Given the description of an element on the screen output the (x, y) to click on. 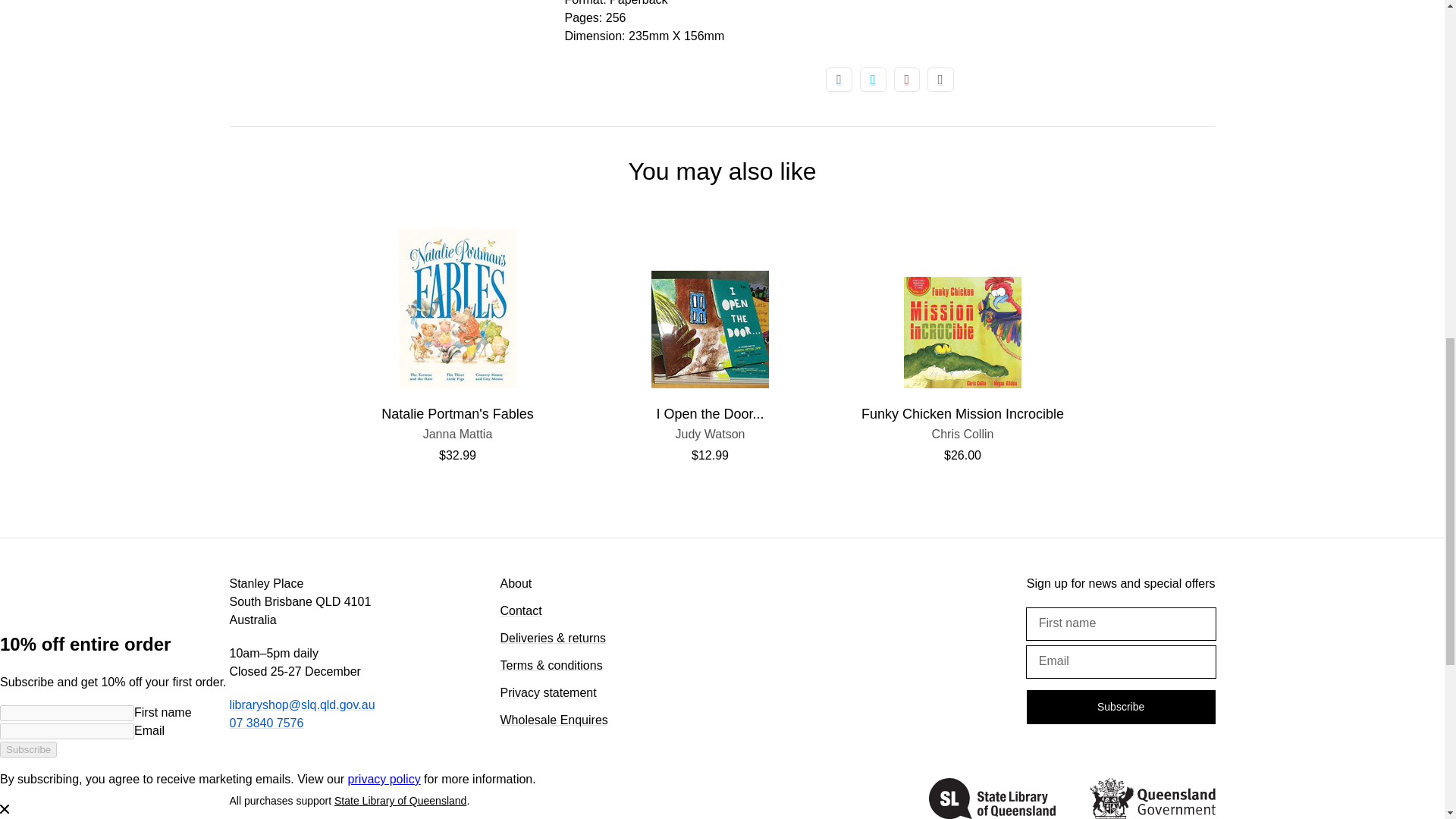
Go to Queensland Government homepage (710, 433)
Go to Queensland State Library homepage (1151, 798)
tel:07 3840 7576 (992, 798)
